Given the description of an element on the screen output the (x, y) to click on. 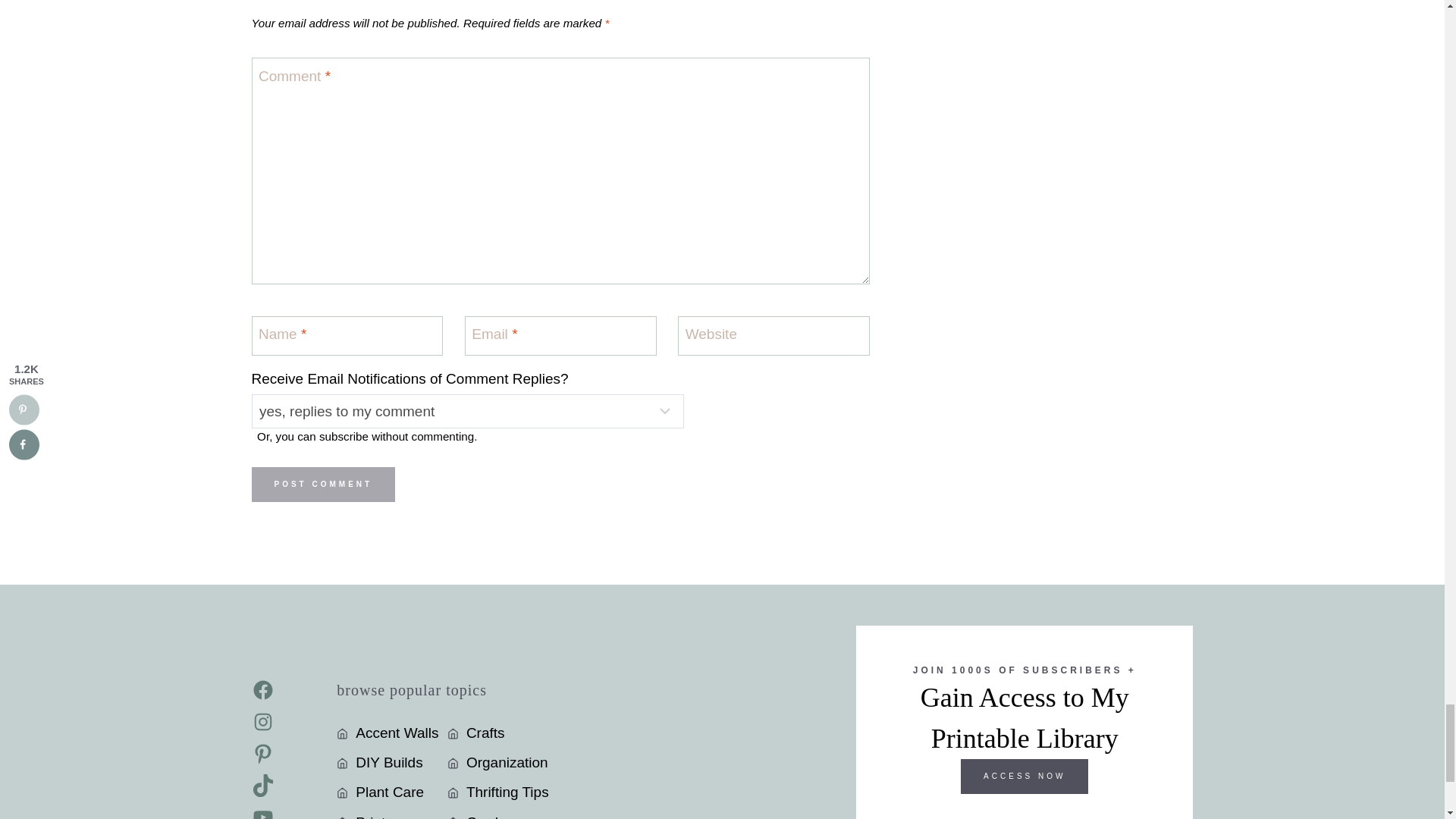
Post Comment (323, 484)
